Given the description of an element on the screen output the (x, y) to click on. 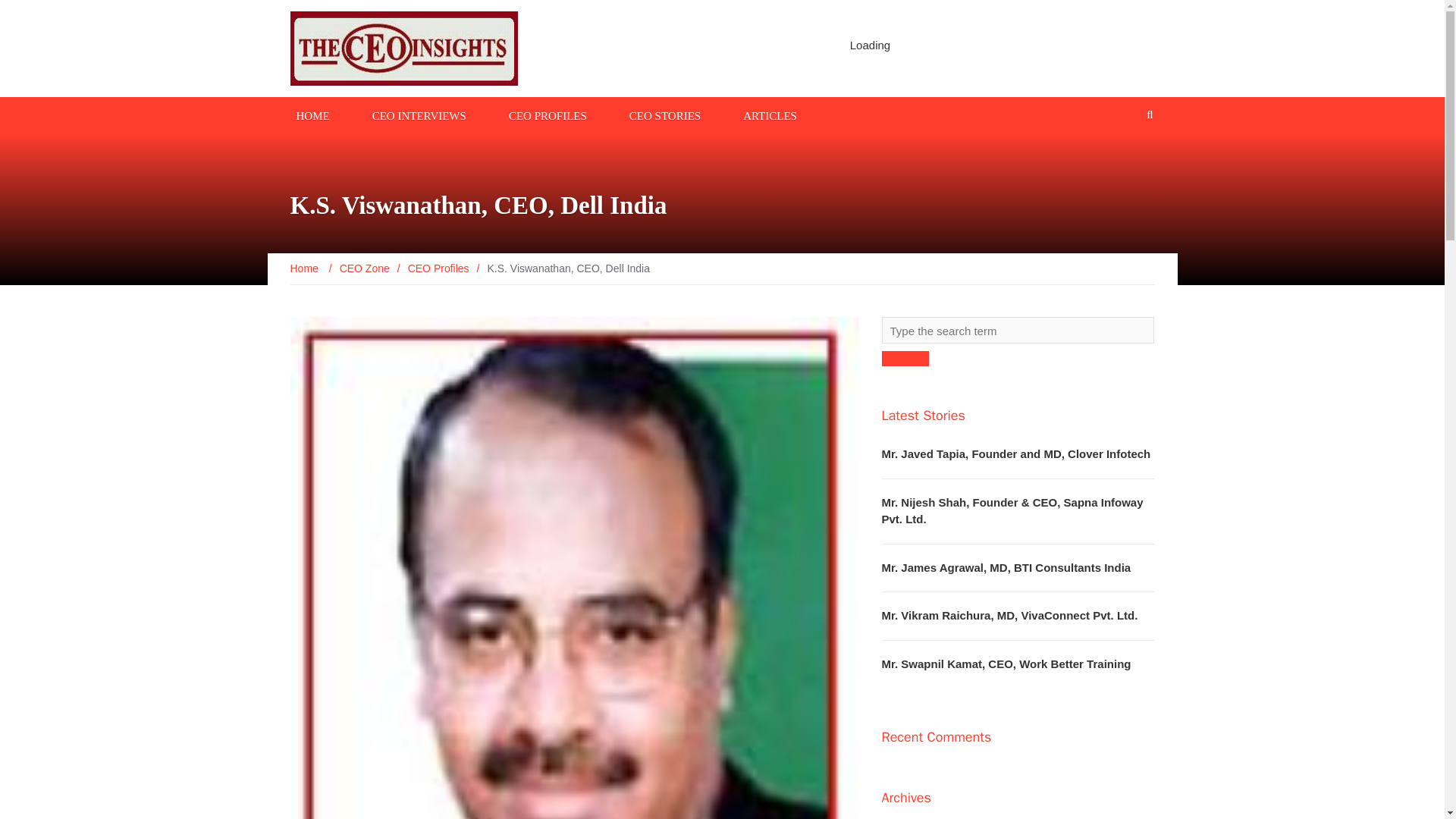
Mr. James Agrawal, MD, BTI Consultants India (1005, 567)
CEO Profiles (437, 268)
CEO Zone (364, 268)
ARTICLES (769, 114)
CEO PROFILES (547, 114)
CEO INTERVIEWS (418, 114)
Mr. Javed Tapia, Founder and MD, Clover Infotech (1015, 453)
HOME (311, 114)
Mr. Swapnil Kamat, CEO, Work Better Training (1005, 662)
Mr. Vikram Raichura, MD, VivaConnect Pvt. Ltd. (1008, 615)
Home (304, 268)
CEO STORIES (664, 114)
